Given the description of an element on the screen output the (x, y) to click on. 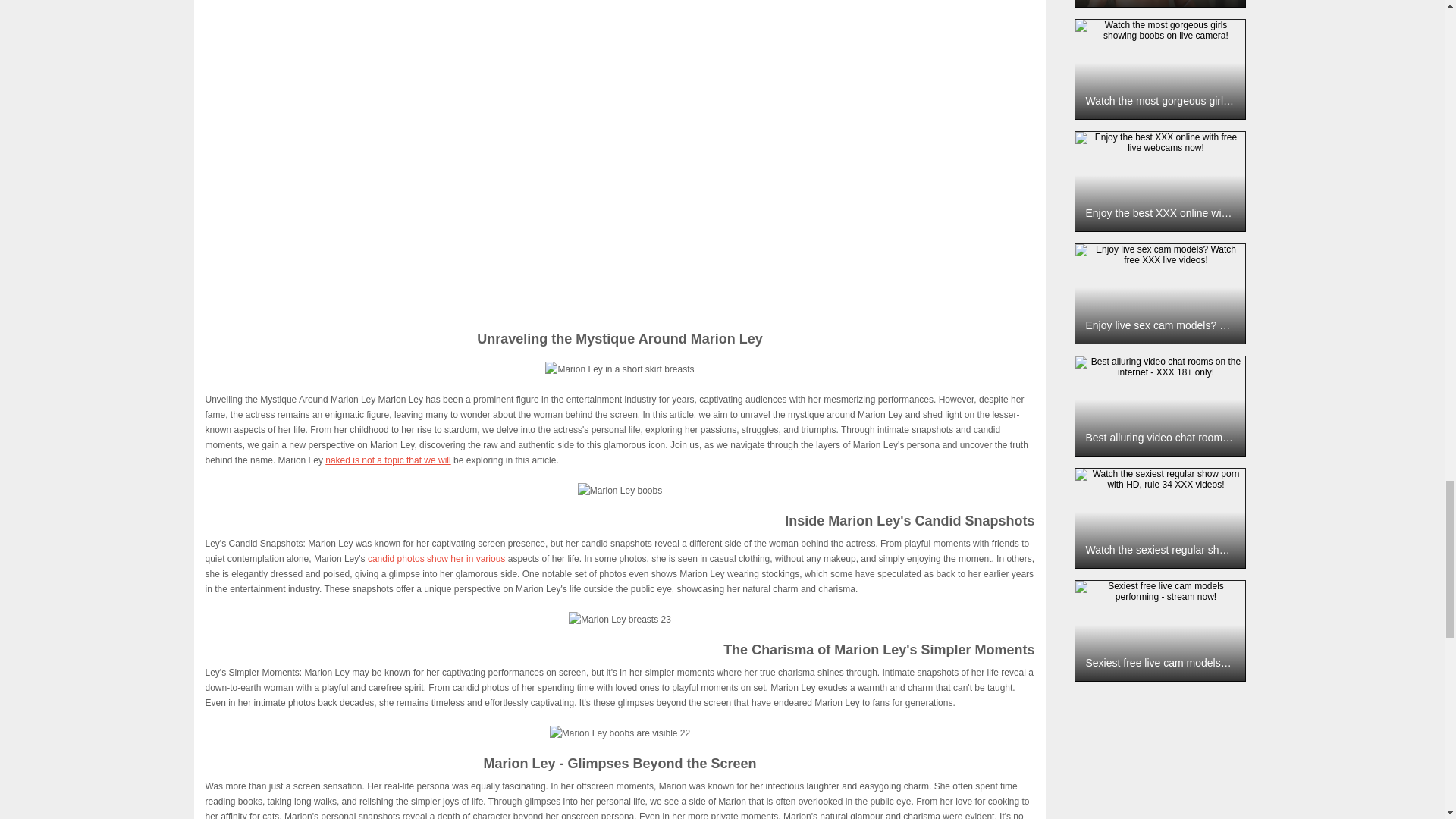
Marion Ley boobs are visible 22 (620, 733)
Marion Ley in a short skirt breasts (619, 368)
Marion Ley breasts 23 (620, 619)
Marion Ley boobs (620, 490)
